Given the description of an element on the screen output the (x, y) to click on. 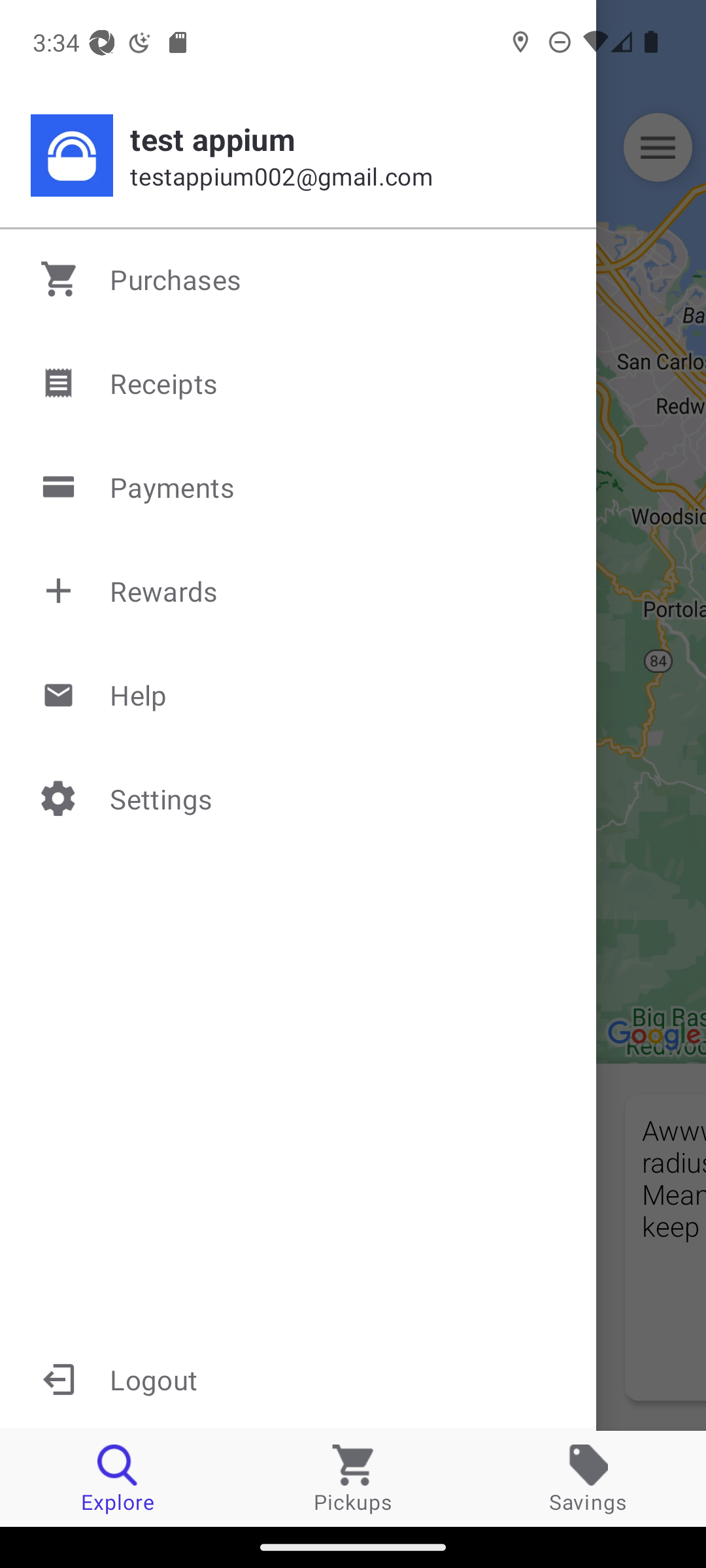
Purchases (299, 278)
Receipts (299, 382)
Payments (299, 487)
Rewards (299, 590)
Help (299, 694)
Settings (299, 797)
Logout (297, 1379)
Pickups (352, 1478)
Savings (588, 1478)
